Given the description of an element on the screen output the (x, y) to click on. 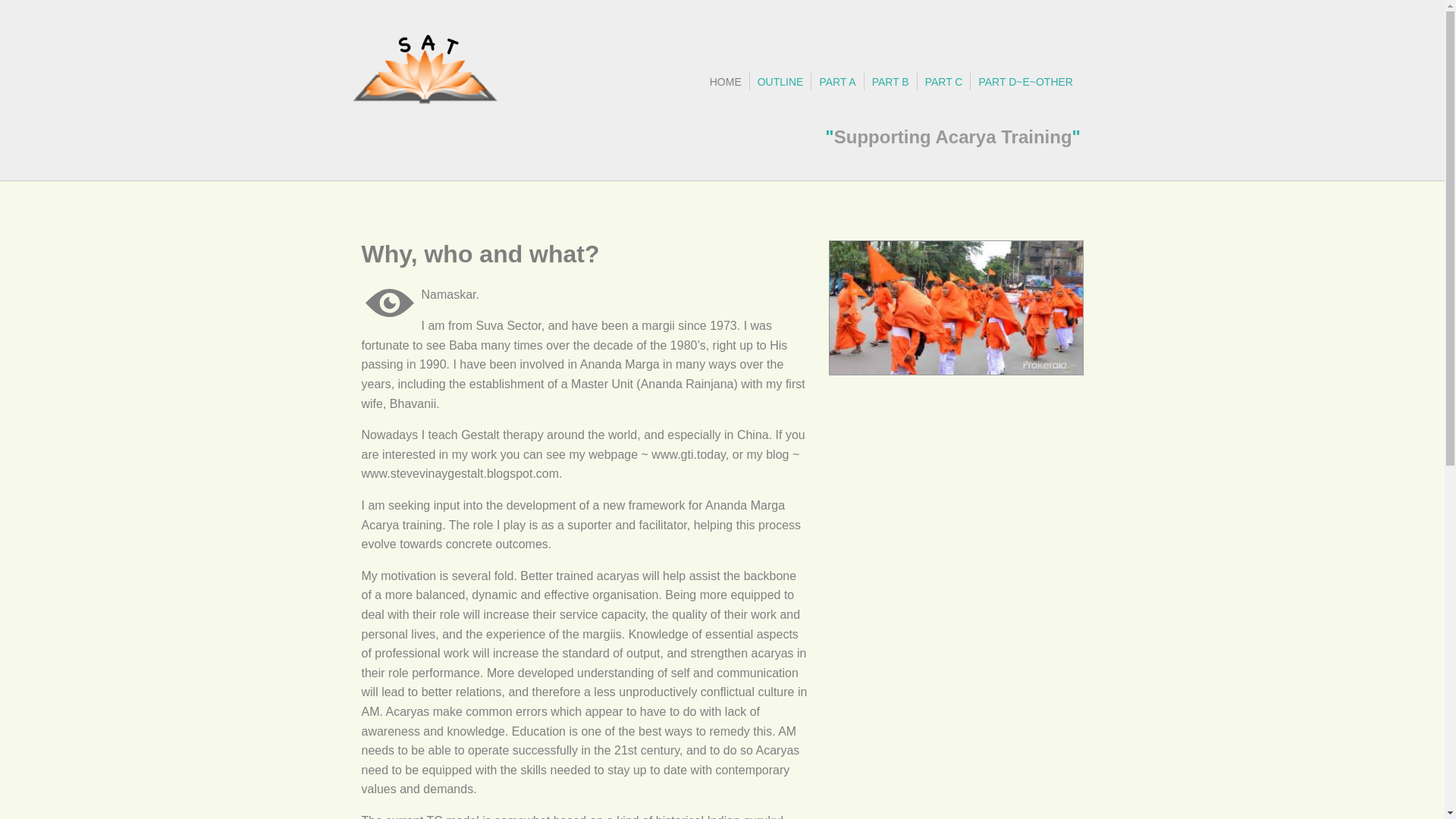
PART A Element type: text (836, 81)
PART B Element type: text (890, 81)
PART C Element type: text (943, 81)
OUTLINE Element type: text (780, 81)
PART D~E~OTHER Element type: text (1024, 81)
HOME Element type: text (725, 81)
